Given the description of an element on the screen output the (x, y) to click on. 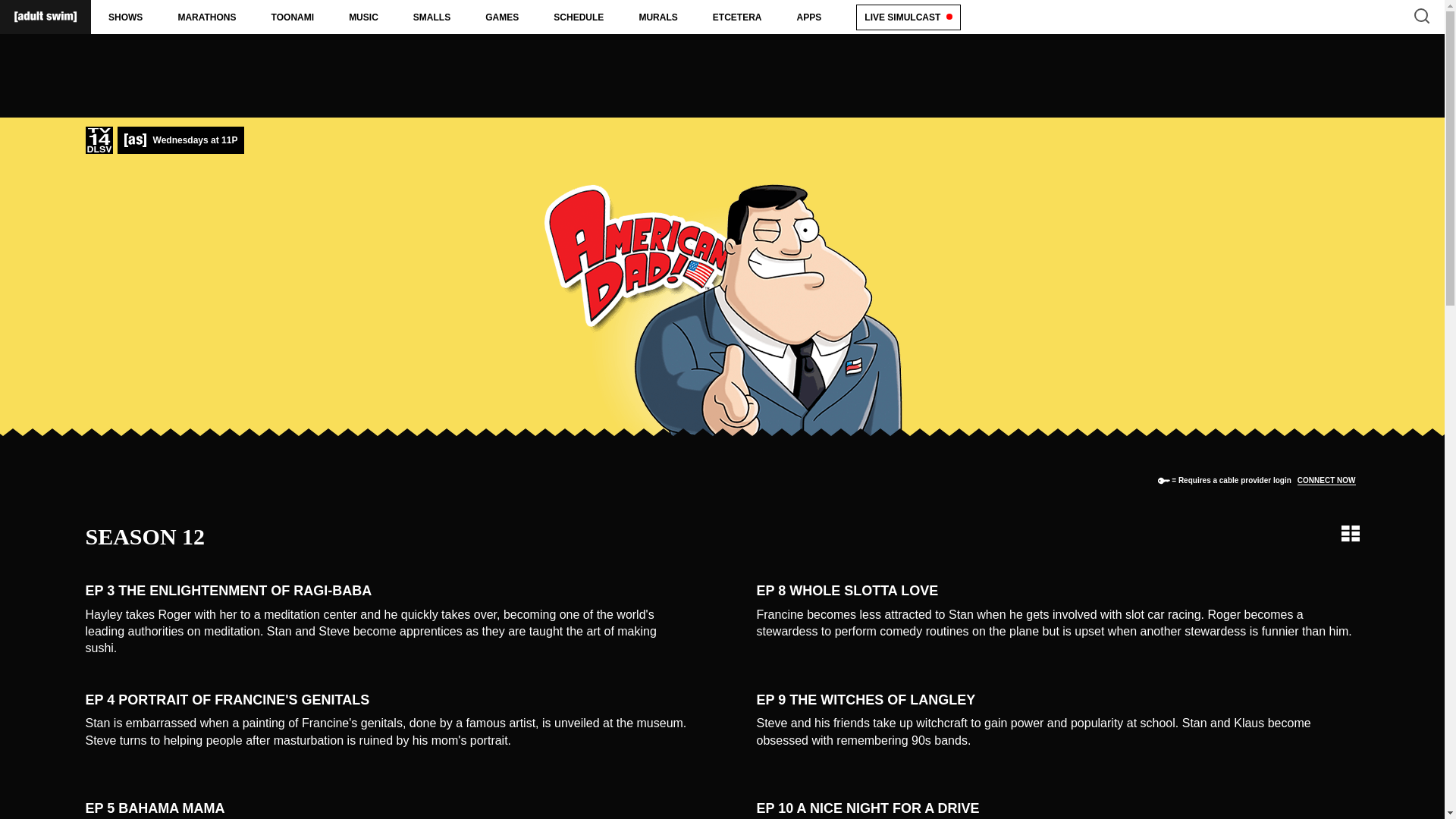
Portrait of Francine's Genitals (385, 700)
CONNECT NOW (1326, 478)
SMALLS (431, 16)
MUSIC (363, 16)
LIVE SIMULCAST (908, 17)
